Given the description of an element on the screen output the (x, y) to click on. 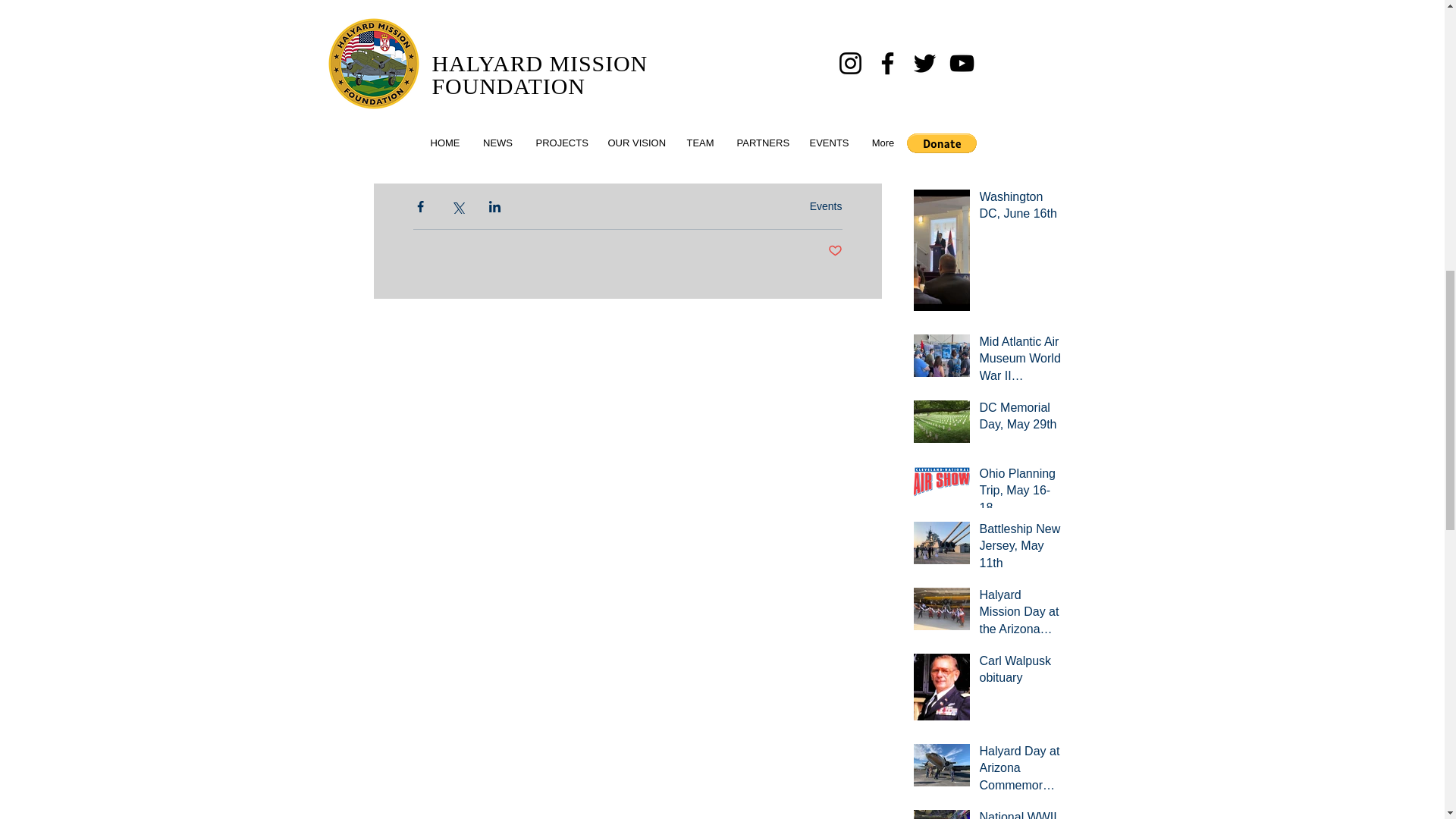
Post not marked as liked (835, 251)
DC Memorial Day, May 29th (1020, 419)
Battleship New Jersey, May 11th (1020, 549)
Mid Atlantic Air Museum World War II Weekend, June 2-4 (1020, 361)
Events (826, 205)
Ohio Planning Trip, May 16-18 (1020, 494)
Statue Project (1020, 134)
Washington DC, June 16th (1020, 209)
